Given the description of an element on the screen output the (x, y) to click on. 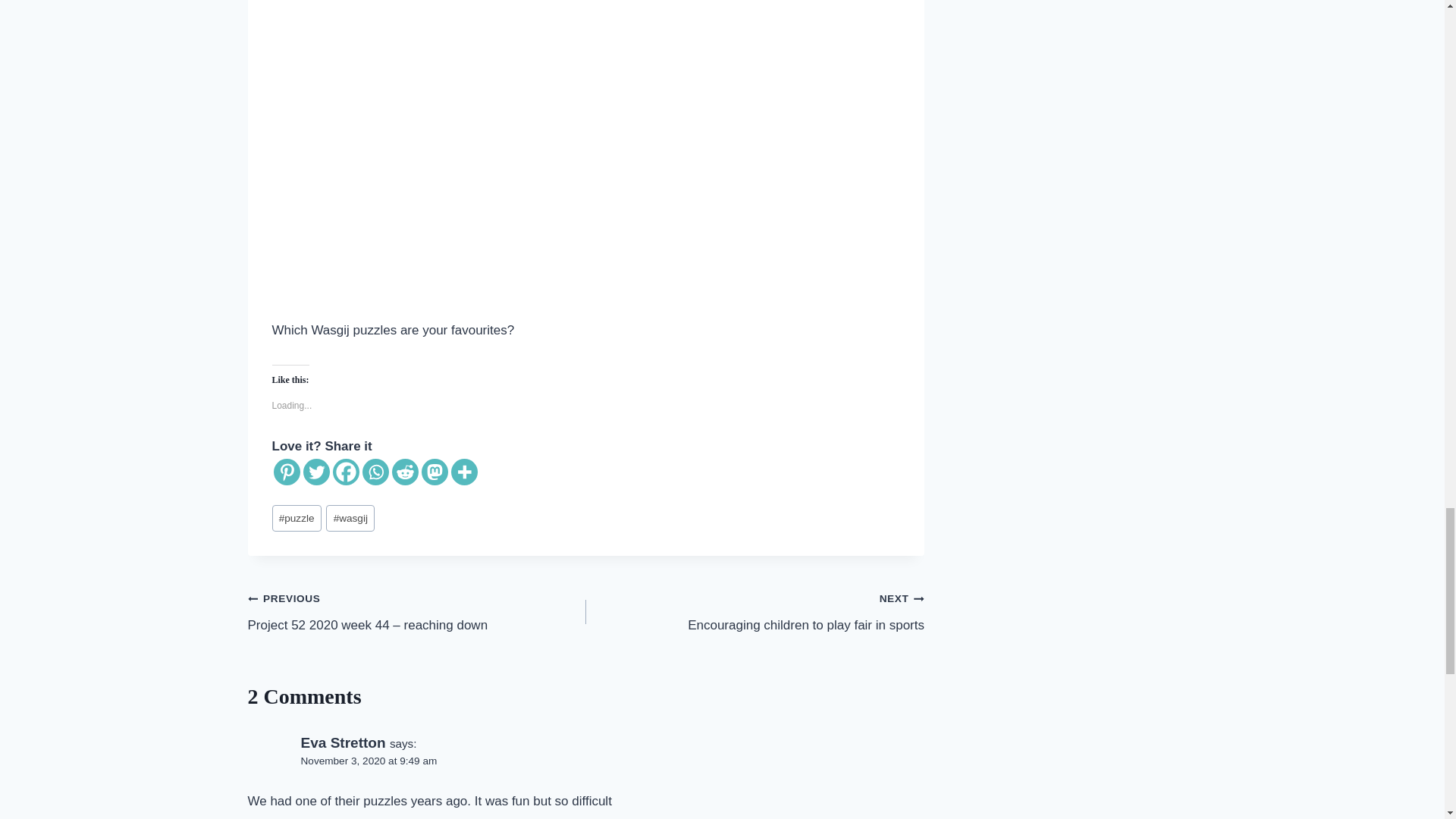
Facebook (344, 471)
Reddit (404, 471)
Mastodon (435, 471)
More (463, 471)
wasgij (350, 518)
puzzle (295, 518)
Pinterest (286, 471)
Twitter (316, 471)
Whatsapp (375, 471)
